Given the description of an element on the screen output the (x, y) to click on. 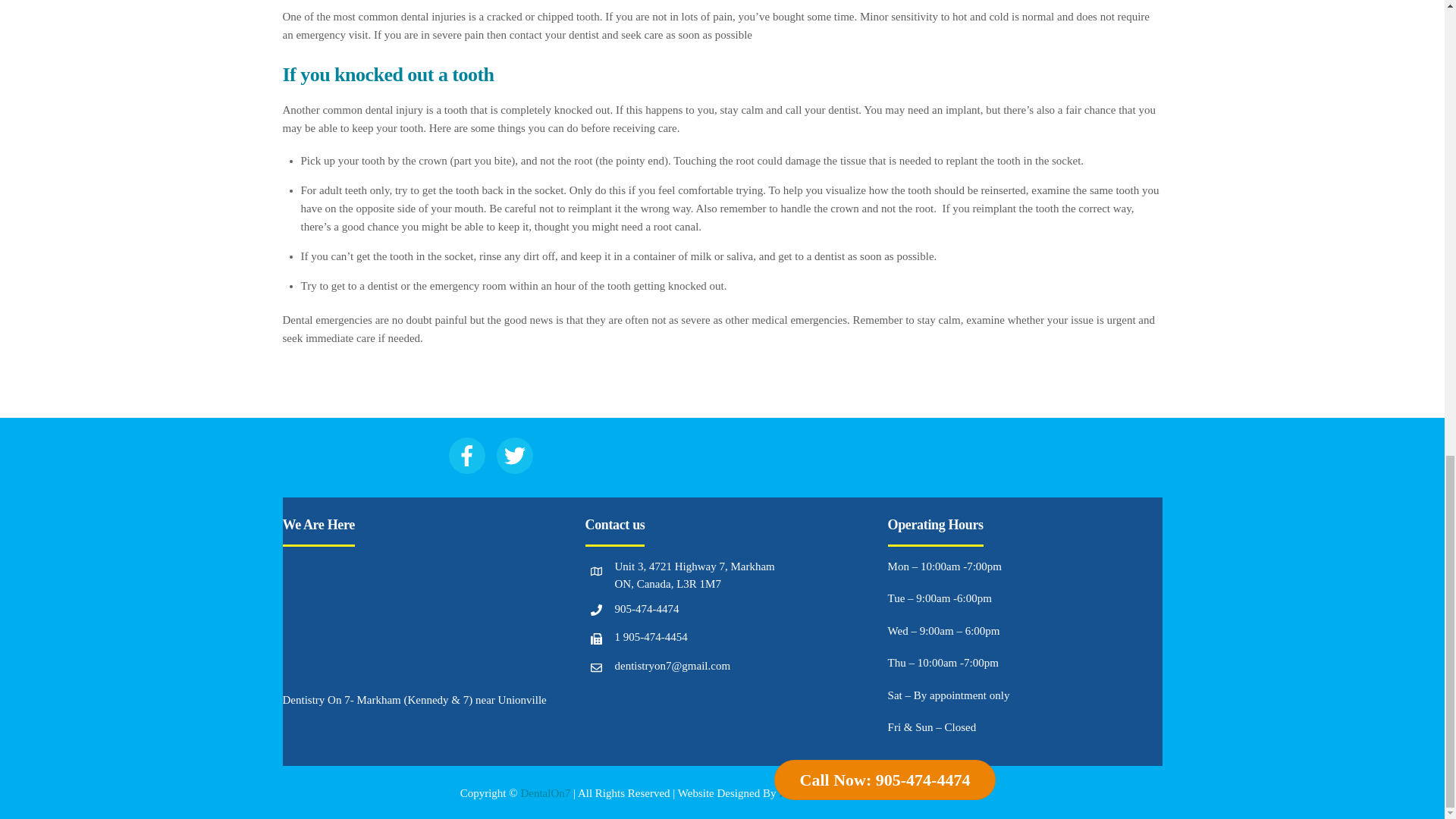
DentalOn7 (544, 793)
HuesAgency.com (818, 793)
RapidPage.ca (952, 793)
